Given the description of an element on the screen output the (x, y) to click on. 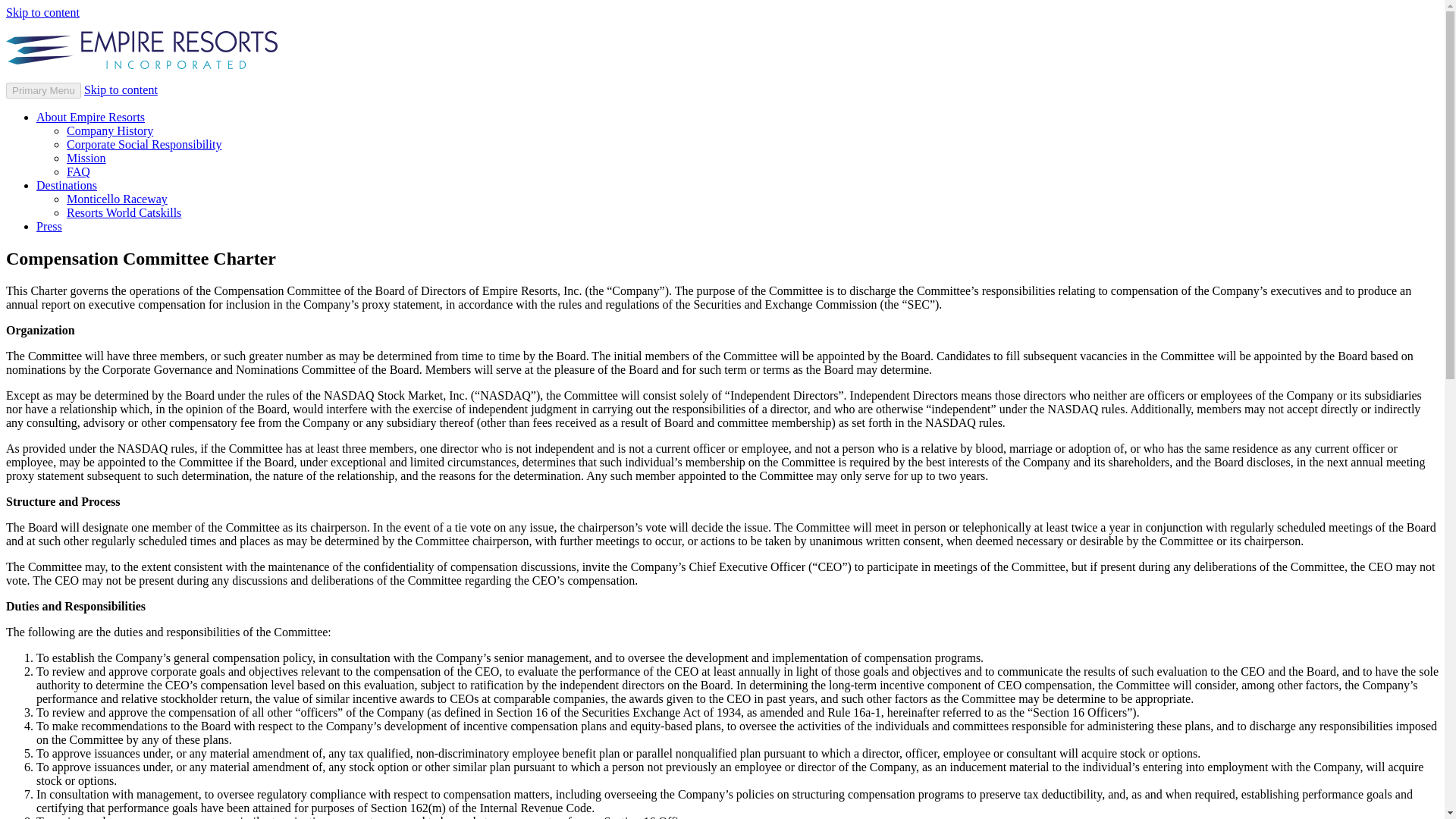
Skip to content (120, 89)
About Empire Resorts (90, 116)
Skip to content (42, 11)
Mission (86, 157)
Resorts World Catskills (123, 212)
Company History (109, 130)
Monticello Raceway (116, 198)
Corporate Social Responsibility (143, 144)
FAQ (78, 171)
Destinations (66, 185)
Press (49, 226)
Primary Menu (43, 90)
